Given the description of an element on the screen output the (x, y) to click on. 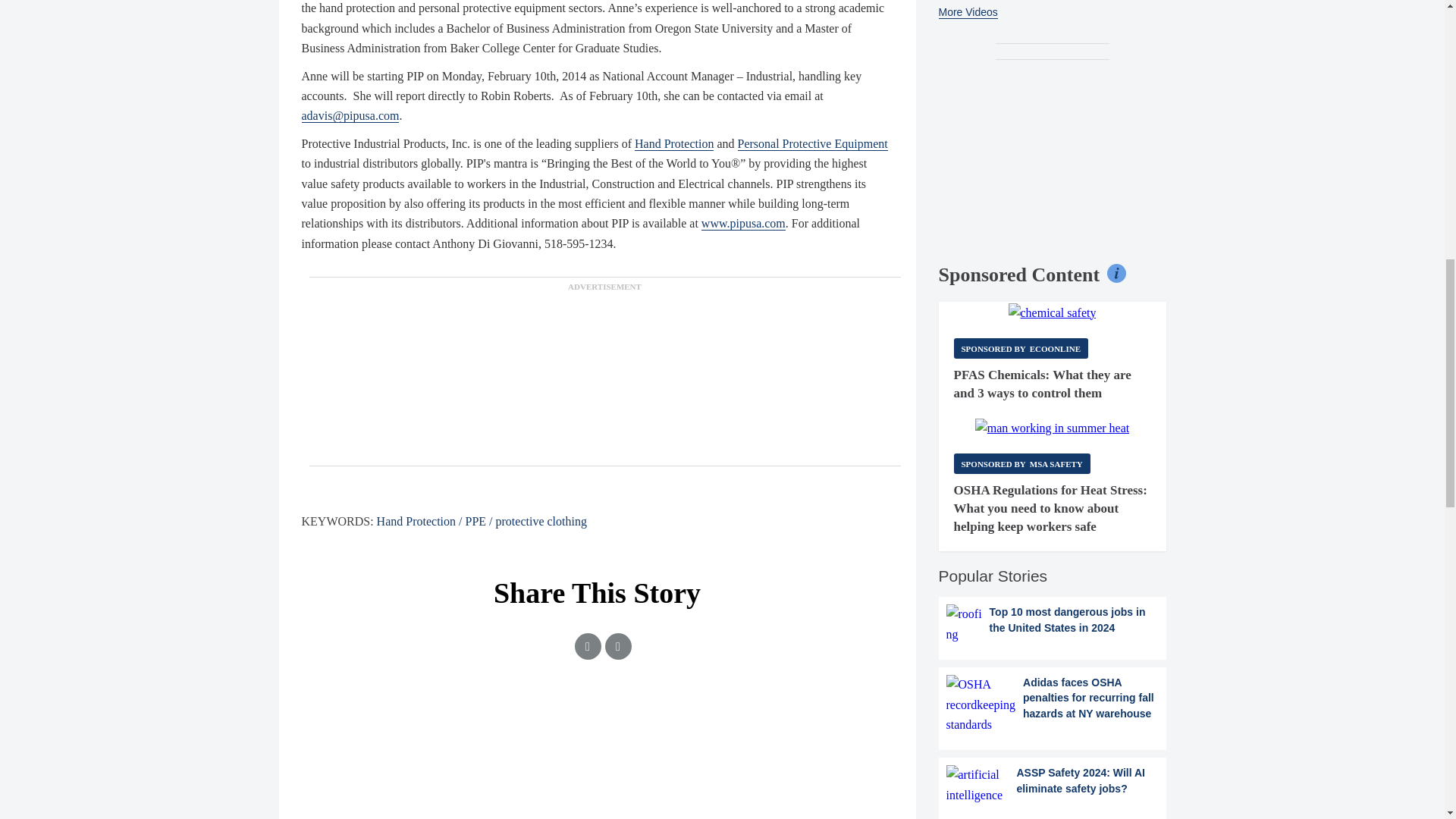
Top 10 most dangerous jobs in the United States in 2024 (1052, 624)
chemical safety (1052, 312)
man working in summer heat (1052, 428)
ASSP Safety 2024: Will AI eliminate safety jobs? (1052, 784)
Sponsored by MSA Safety (1021, 463)
Sponsored by EcoOnline (1021, 348)
